Given the description of an element on the screen output the (x, y) to click on. 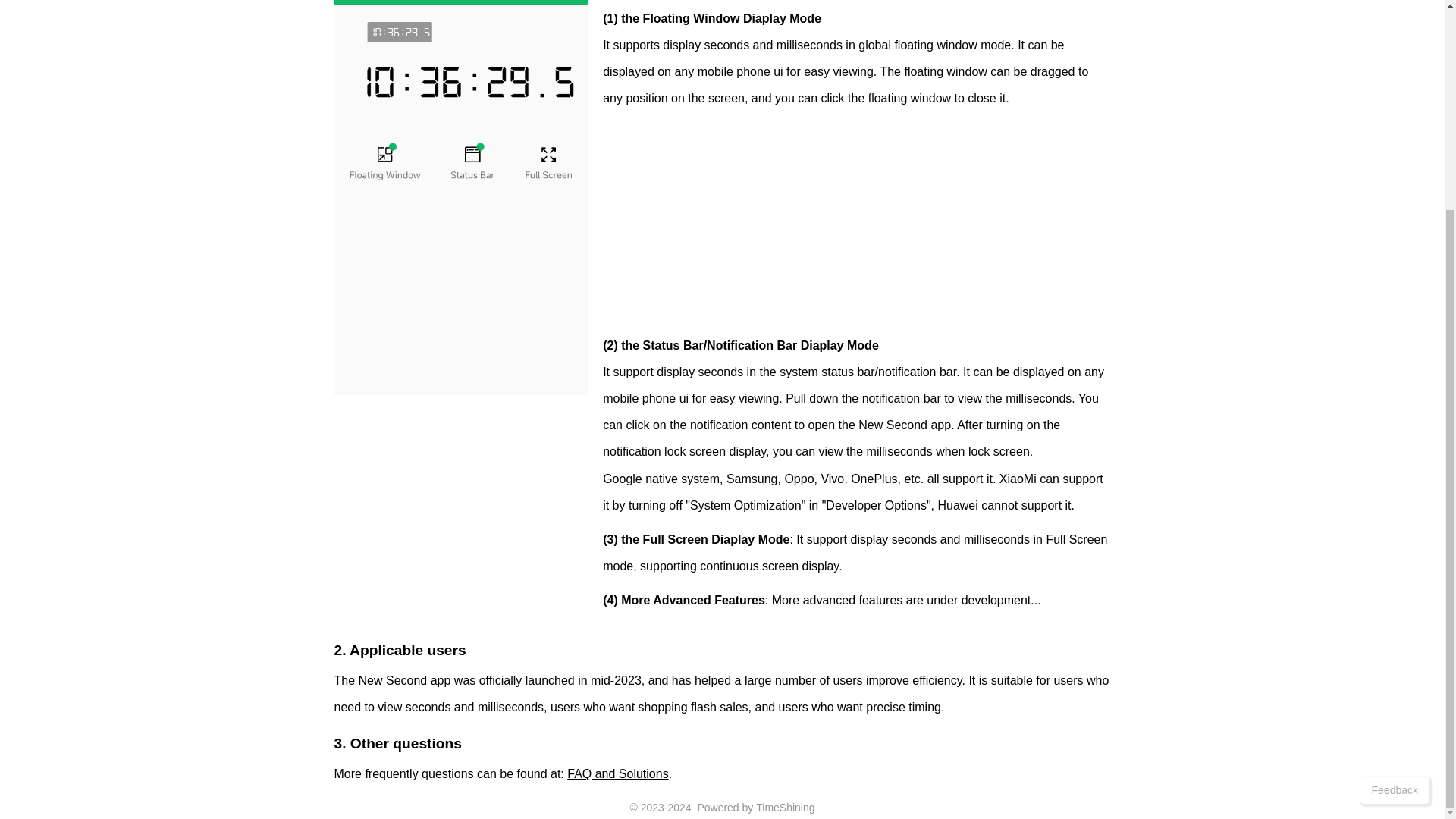
FAQ and Solutions (617, 773)
Advertisement (855, 225)
Feedback (1394, 517)
TimeShining (784, 807)
